Given the description of an element on the screen output the (x, y) to click on. 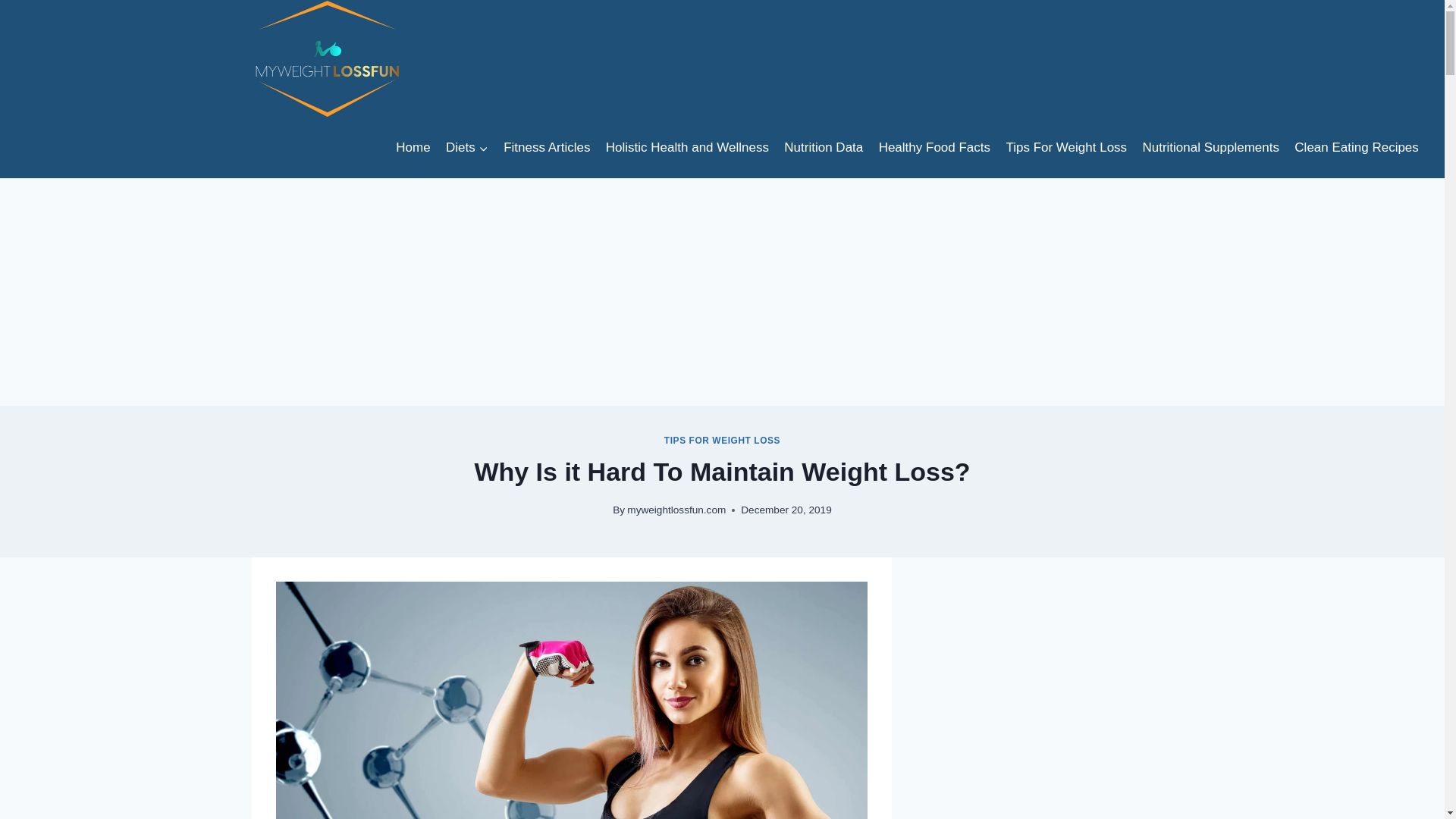
Diets (467, 147)
Home (413, 147)
Nutrition Data (823, 147)
Tips For Weight Loss (1065, 147)
Holistic Health and Wellness (687, 147)
myweightlossfun.com (676, 509)
Clean Eating Recipes (1356, 147)
Fitness Articles (547, 147)
Healthy Food Facts (933, 147)
TIPS FOR WEIGHT LOSS (721, 439)
Nutritional Supplements (1210, 147)
